Given the description of an element on the screen output the (x, y) to click on. 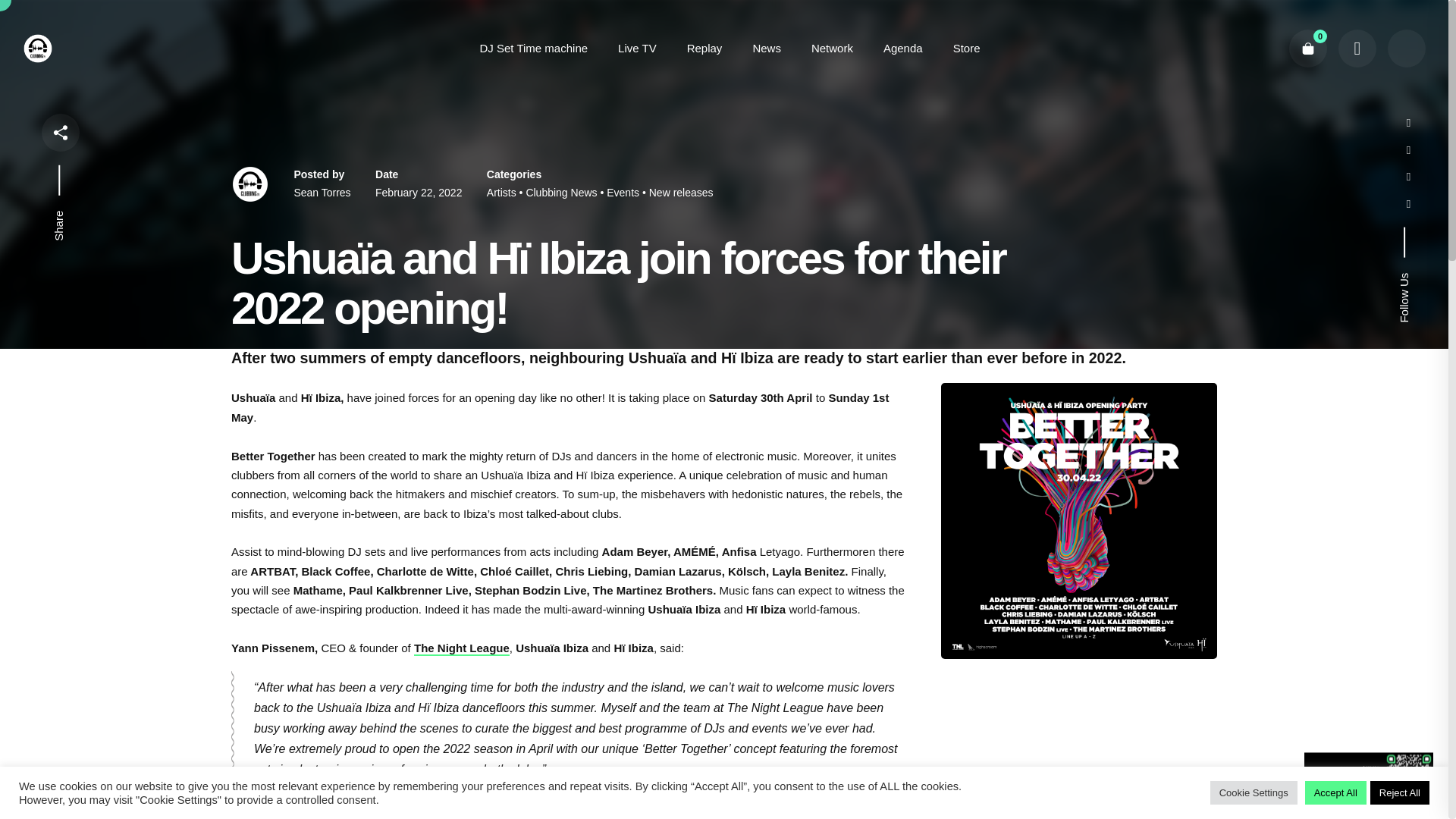
News (766, 48)
DJ Set Time machine (534, 48)
View posts from category (628, 192)
Agenda (903, 48)
View posts from category (505, 192)
Network (831, 48)
Live TV (636, 48)
Replay (704, 48)
View posts from category (566, 192)
Store (966, 48)
View posts from category (681, 192)
